Given the description of an element on the screen output the (x, y) to click on. 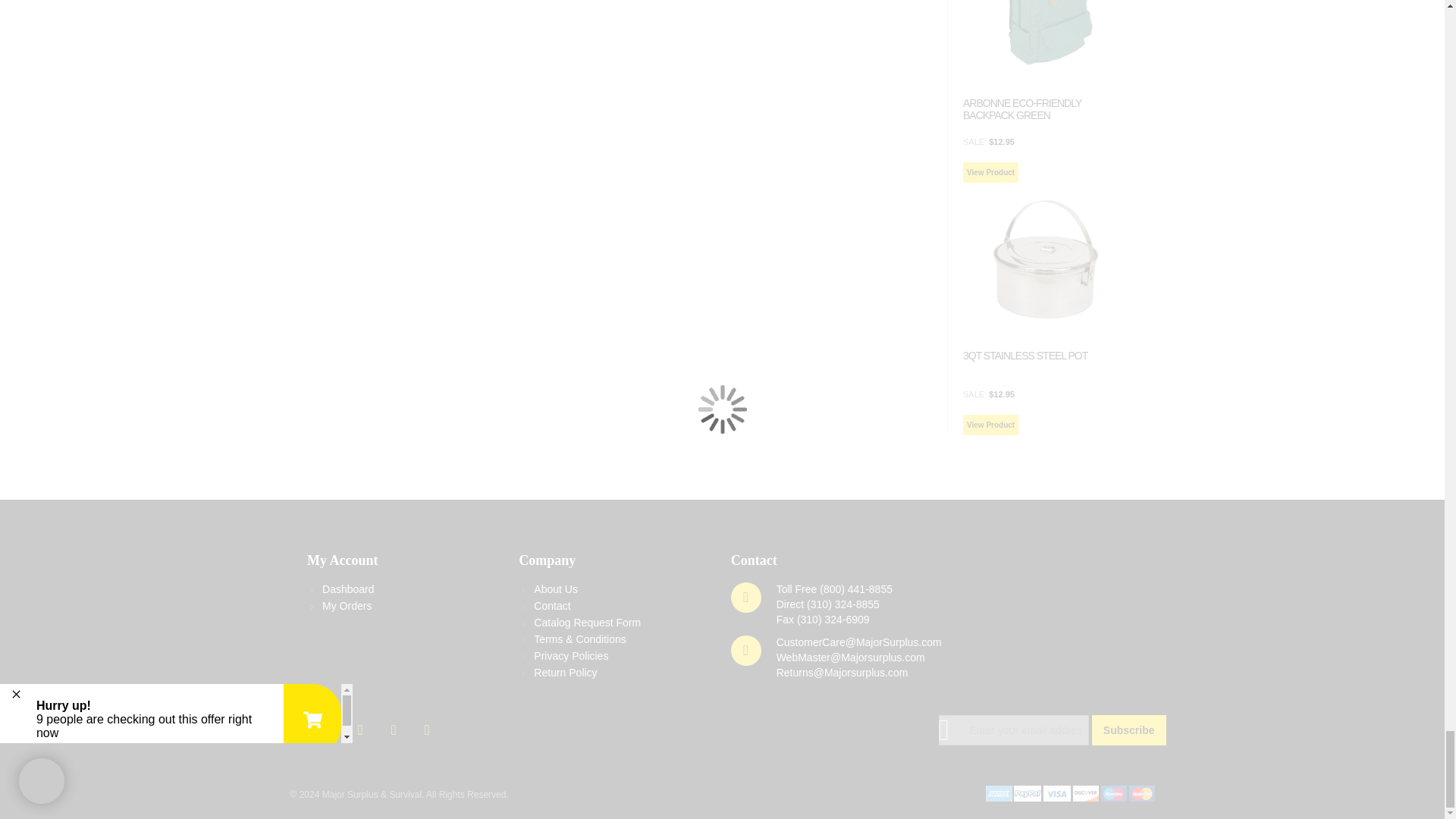
Pinterest (427, 726)
Follow Major Surplus on Twitter (296, 726)
Youtube (361, 726)
Instagram (395, 726)
Join us on Facebook (328, 726)
